Given the description of an element on the screen output the (x, y) to click on. 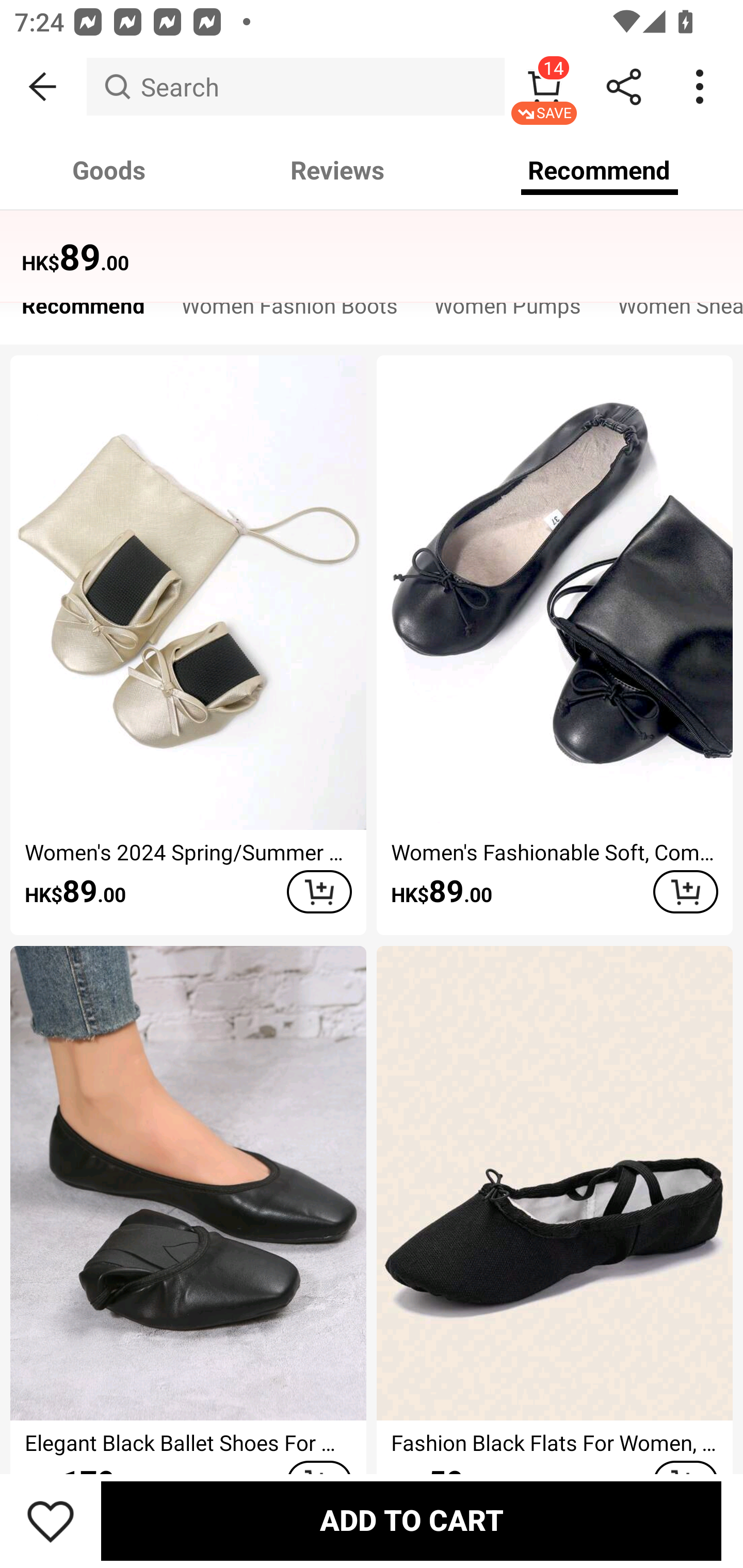
BACK (43, 86)
14 SAVE (543, 87)
Search (295, 87)
Goods (109, 170)
Reviews (337, 170)
Recommend (599, 170)
You May Also Like (371, 244)
Recommend (82, 310)
Women Fashion Boots (289, 310)
Women Pumps (507, 310)
Women Sneakers (671, 310)
ADD TO CART (319, 892)
ADD TO CART (685, 892)
ADD TO CART (411, 1520)
Save (50, 1520)
